Given the description of an element on the screen output the (x, y) to click on. 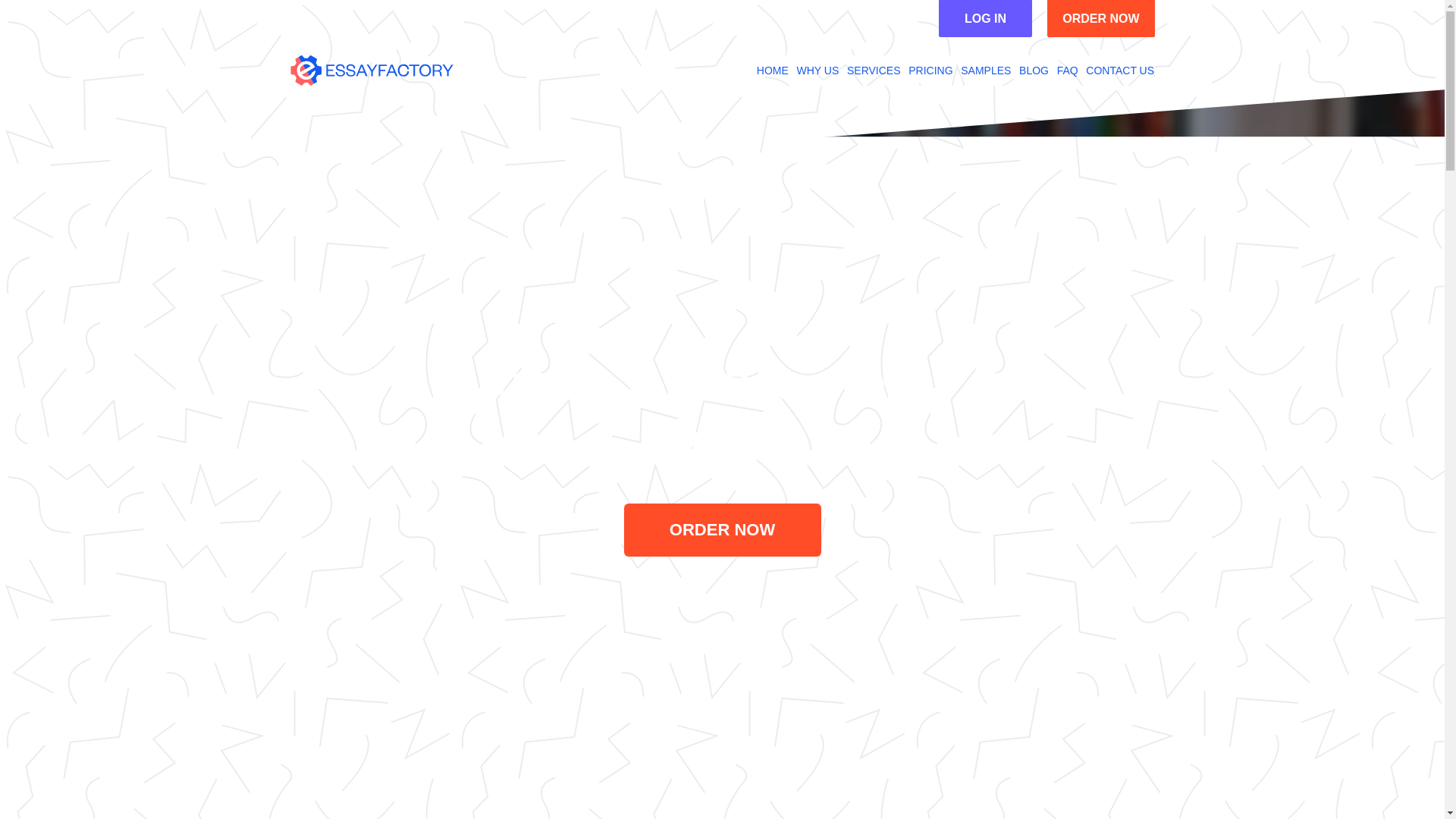
BLOG (1033, 70)
ORDER NOW (722, 529)
CONTACT US (1120, 70)
SAMPLES (985, 70)
SERVICES (874, 70)
WHY US (818, 70)
HOME (773, 70)
Essay UK (370, 70)
PRICING (930, 70)
ORDER NOW (1100, 18)
